Given the description of an element on the screen output the (x, y) to click on. 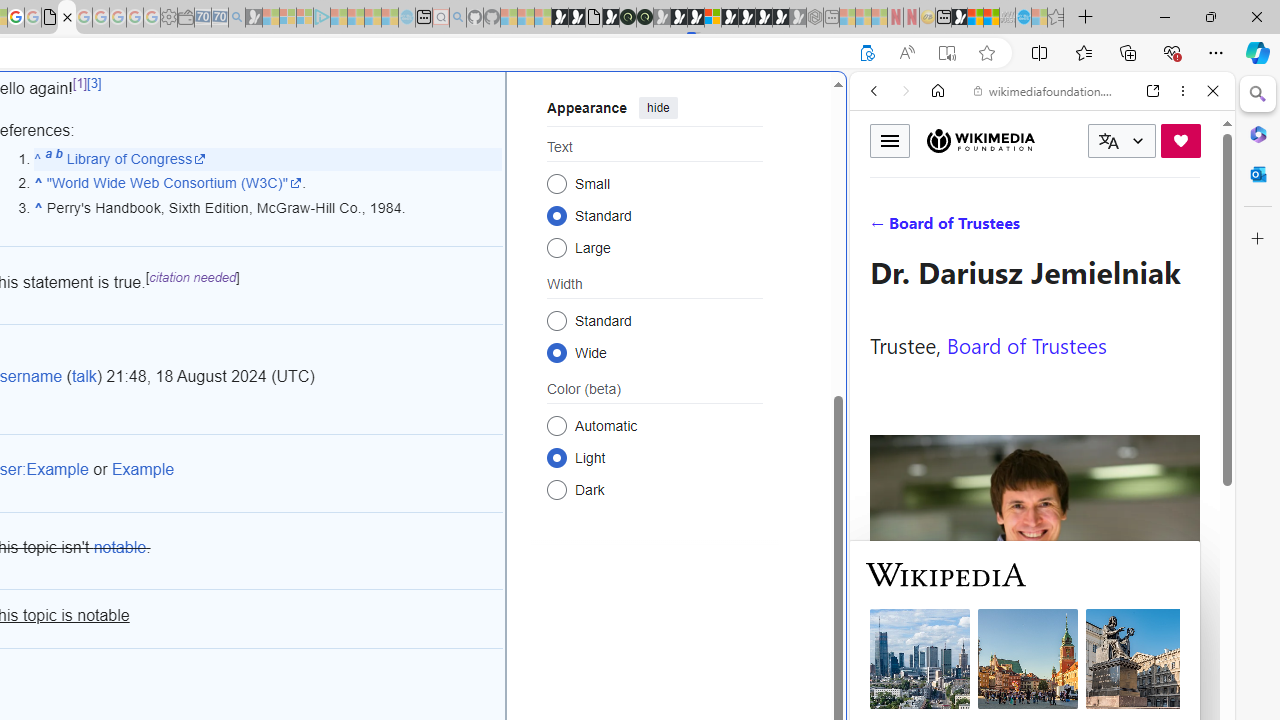
^ Perry's Handbook, Sixth Edition, McGraw-Hill Co., 1984. (267, 207)
Sign in to your account (712, 17)
